Given the description of an element on the screen output the (x, y) to click on. 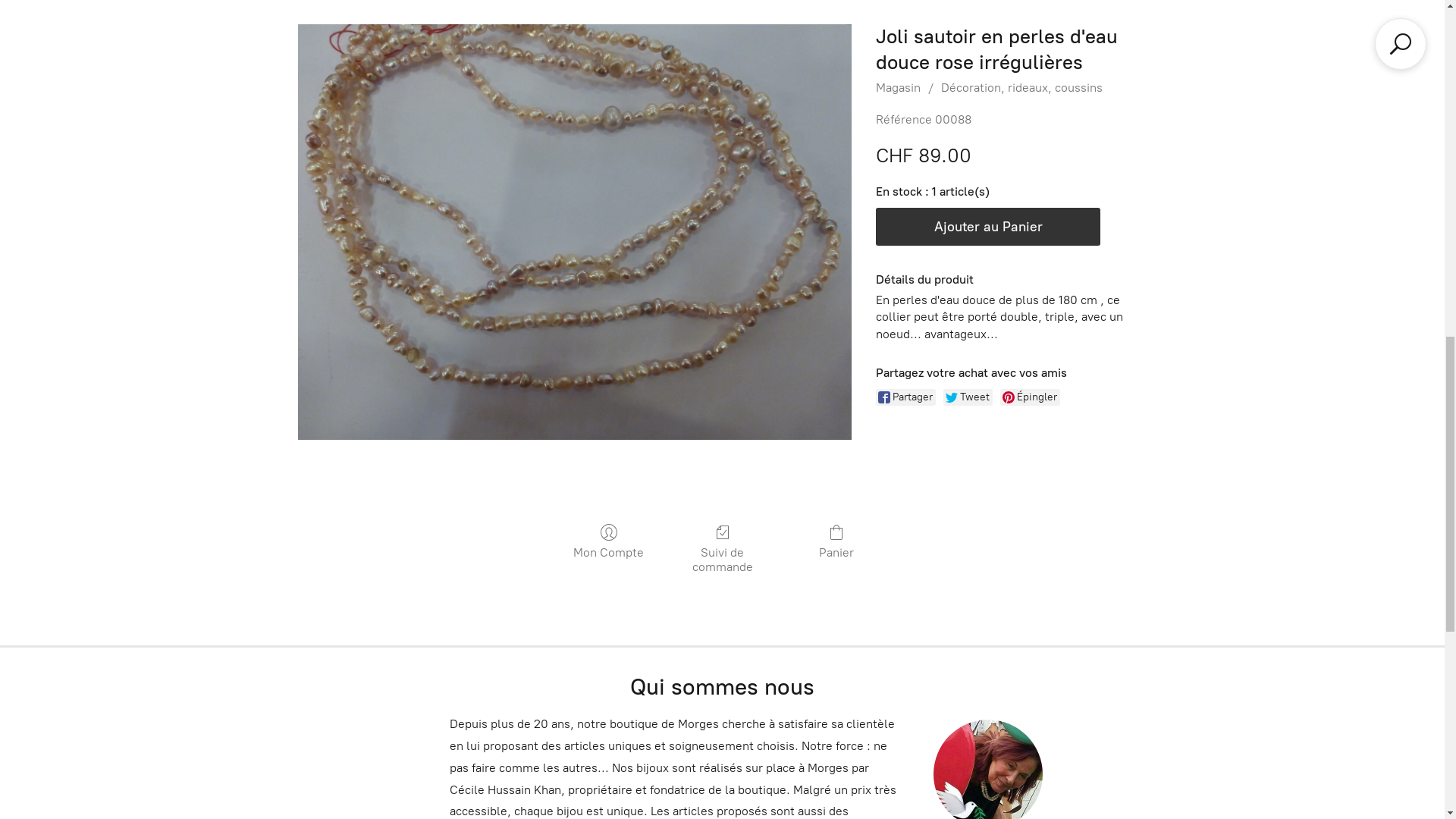
Acheter maintenant Element type: text (722, 549)
0793052102 Element type: text (1364, 26)
